Given the description of an element on the screen output the (x, y) to click on. 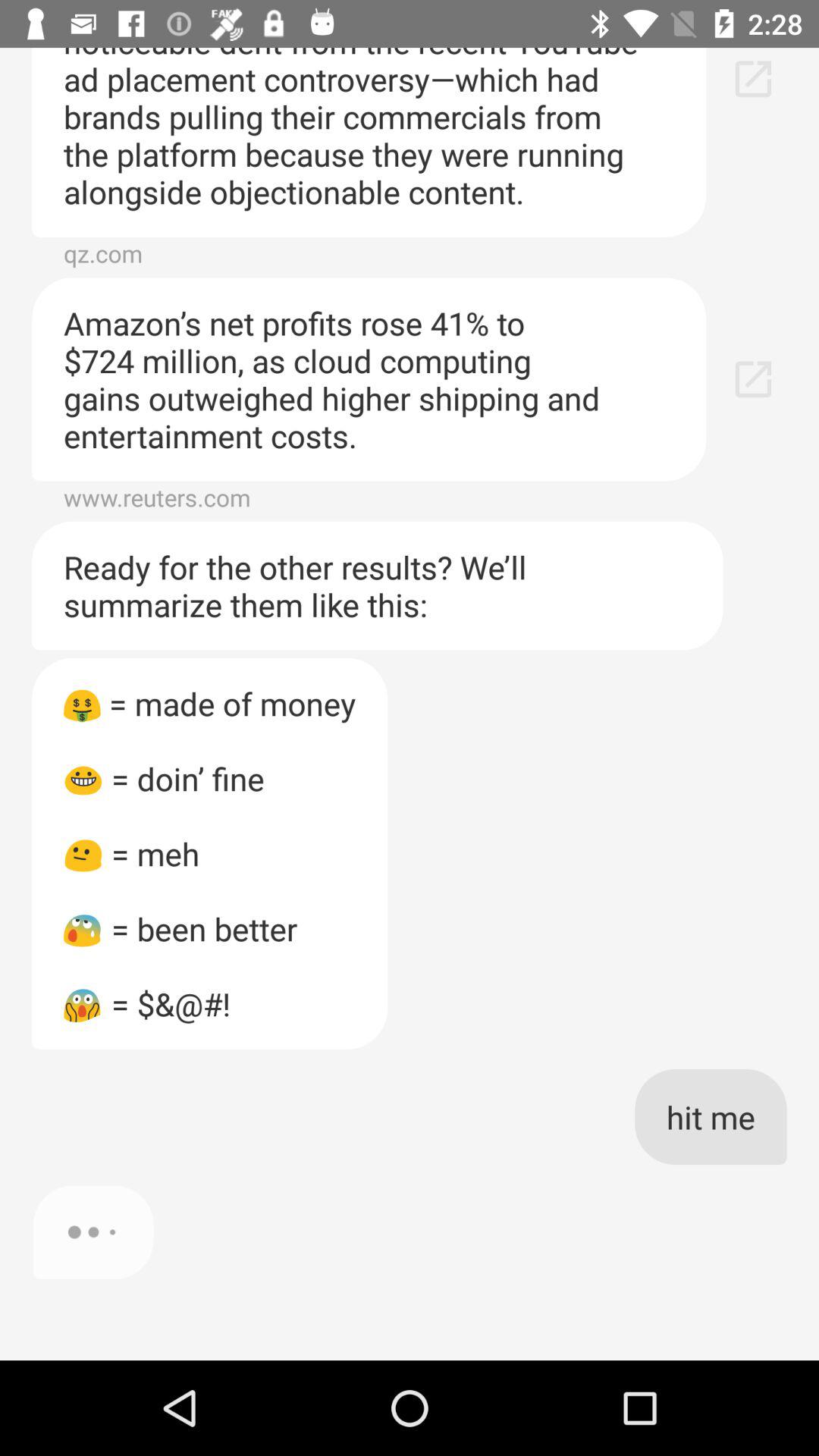
flip to amazon s net item (368, 379)
